Given the description of an element on the screen output the (x, y) to click on. 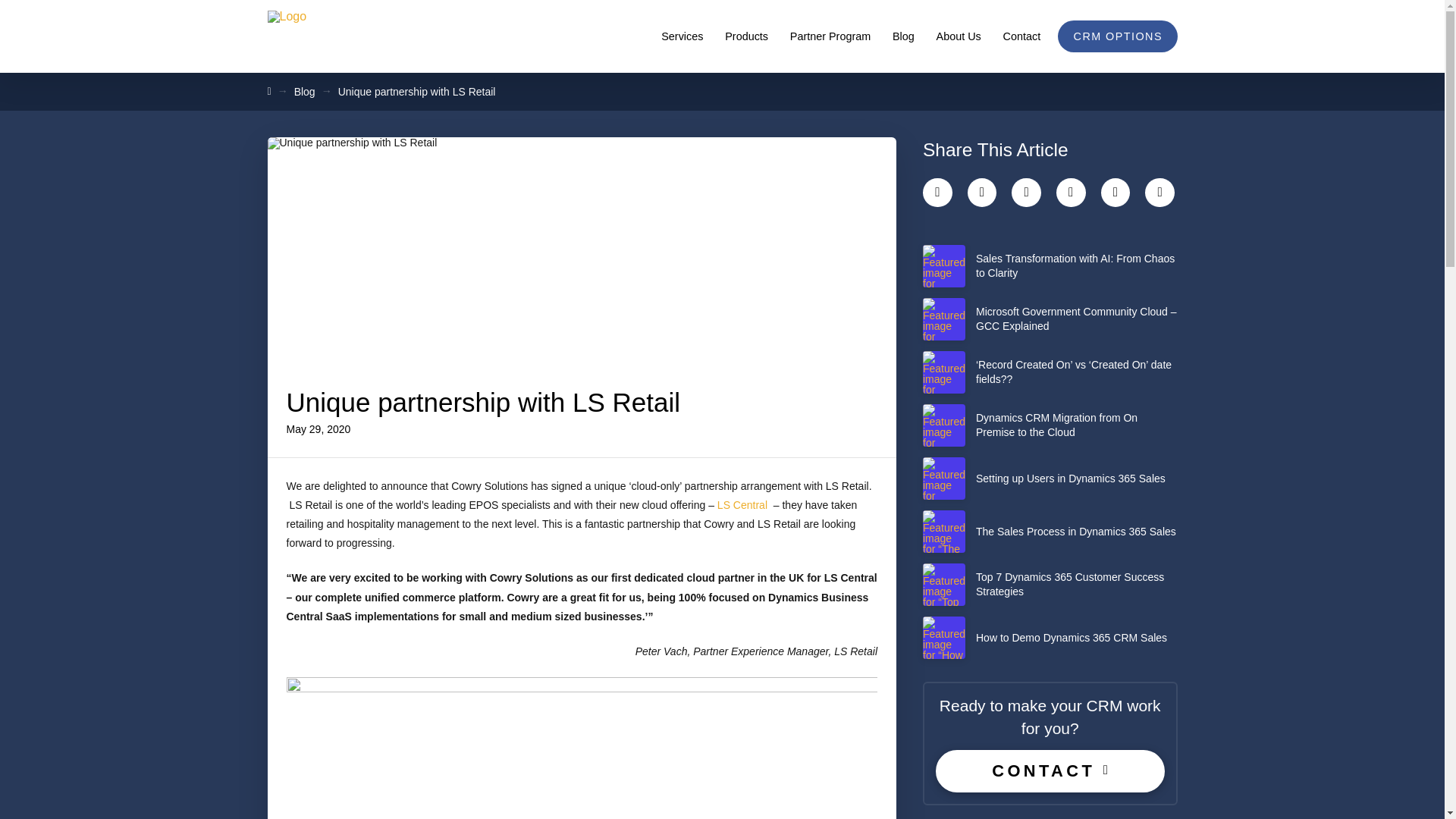
About Us (957, 36)
Blog (304, 91)
LS Central (742, 504)
Unique partnership with LS Retail (416, 91)
You Are Here (416, 91)
Products (746, 36)
Partner Program (829, 36)
CRM OPTIONS (1117, 36)
Sales Transformation with AI: From Chaos to Clarity (1050, 265)
